Given the description of an element on the screen output the (x, y) to click on. 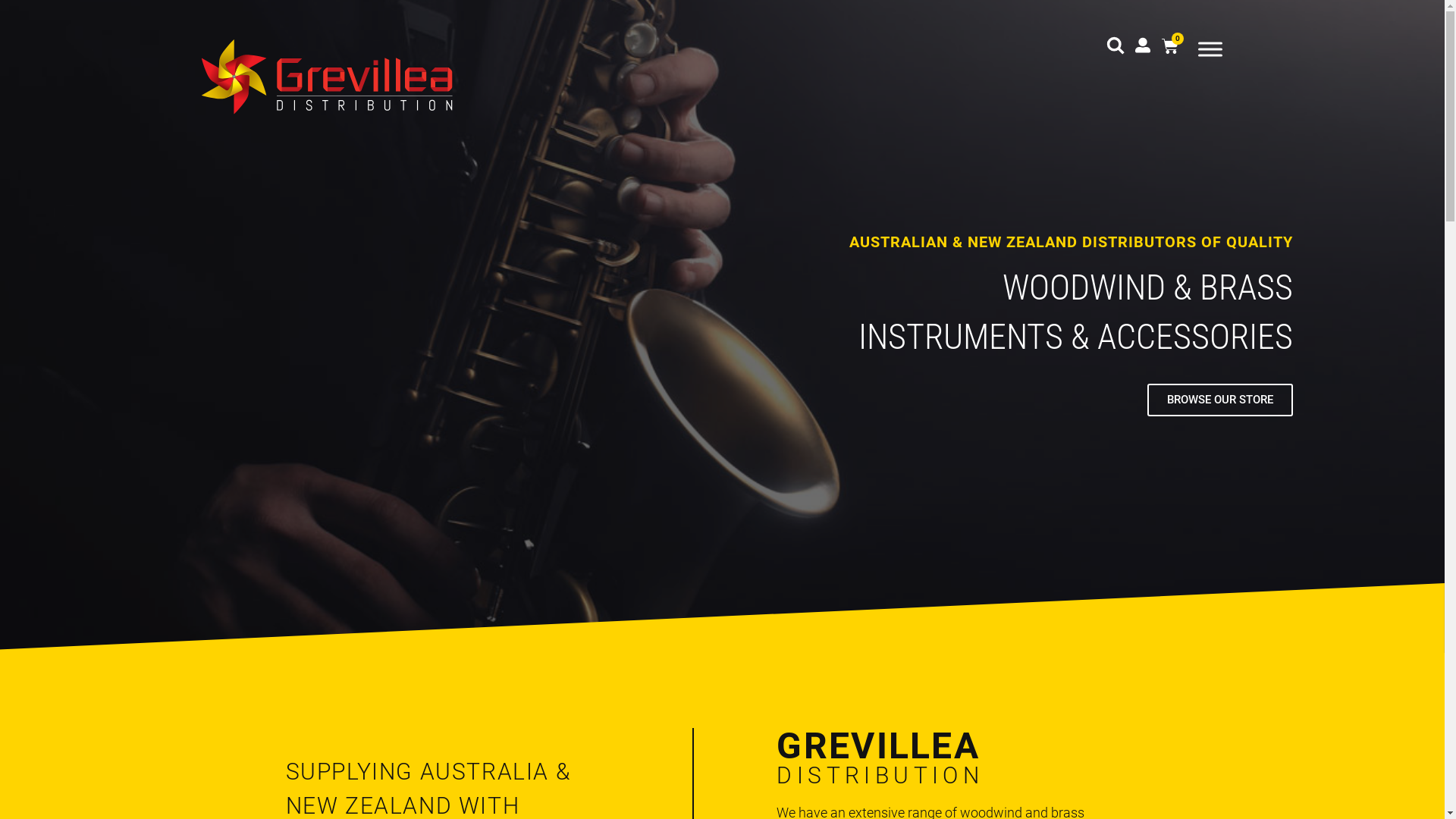
0 Element type: text (1169, 46)
BROWSE OUR STORE Element type: text (1219, 399)
